Given the description of an element on the screen output the (x, y) to click on. 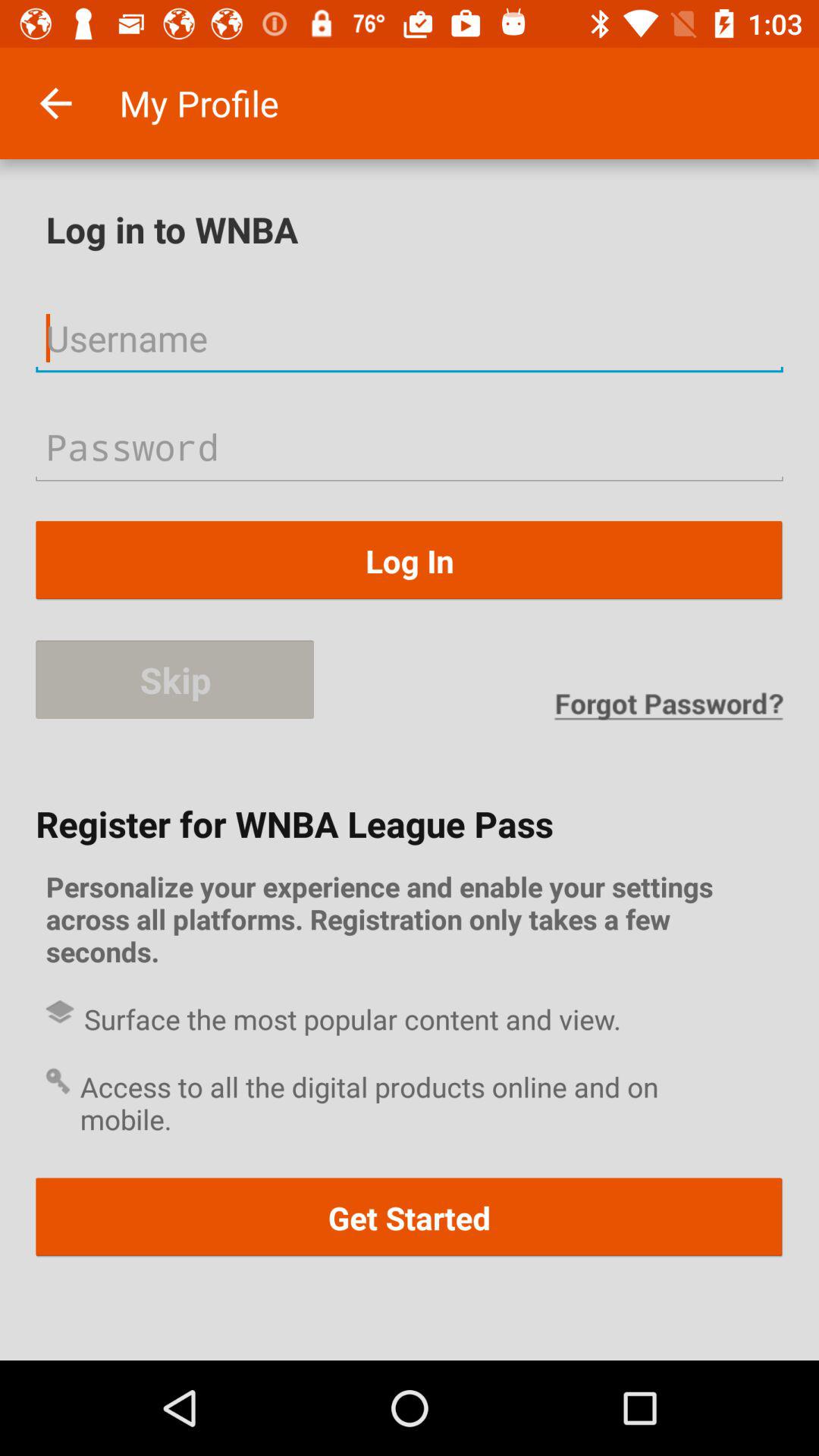
turn off the skip item (174, 680)
